Given the description of an element on the screen output the (x, y) to click on. 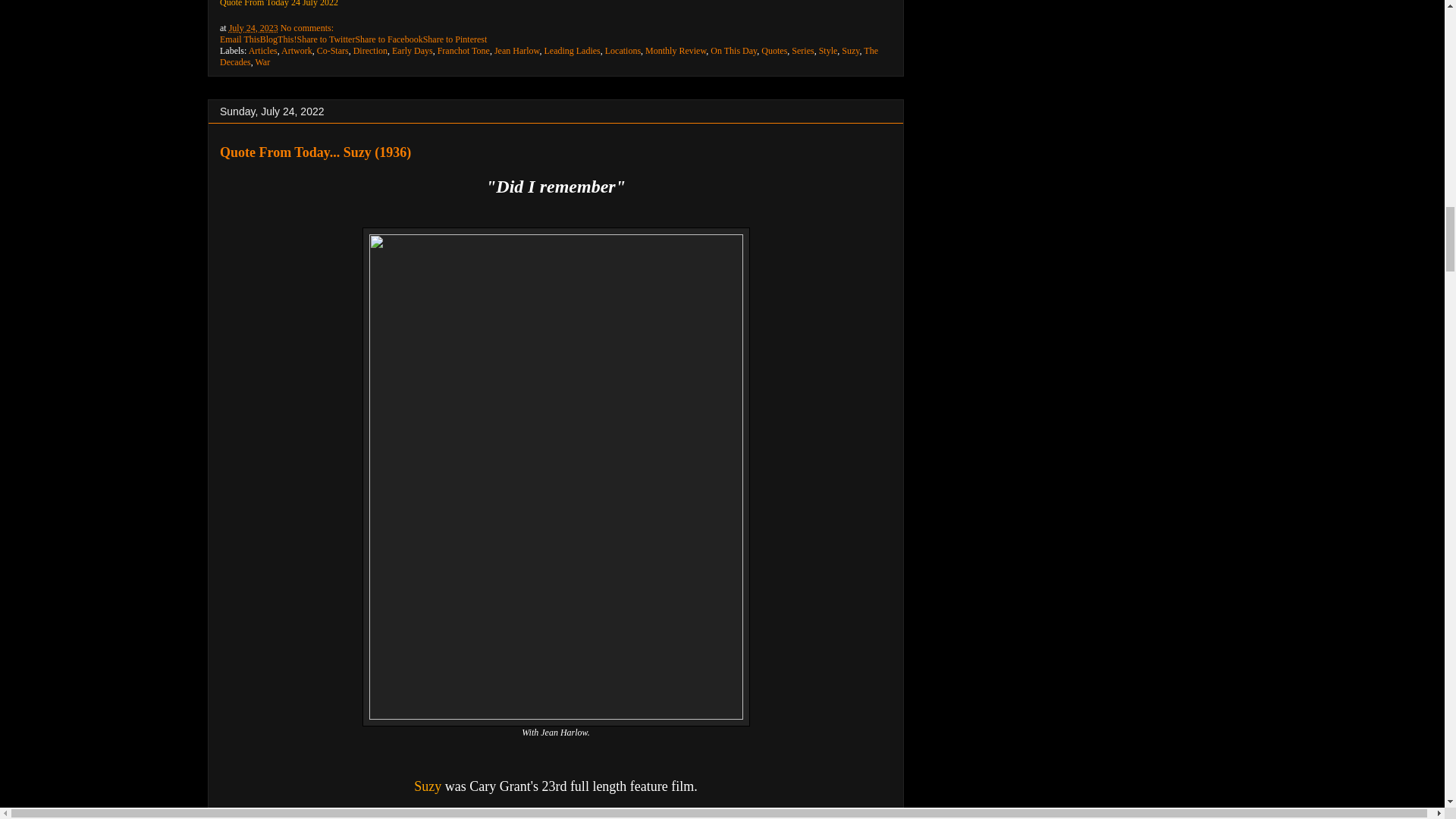
Share to Pinterest (455, 38)
Share to Facebook (388, 38)
War (261, 61)
BlogThis! (278, 38)
Suzy  (429, 785)
The Decades (548, 56)
Share to Facebook (388, 38)
BlogThis! (278, 38)
No comments: (307, 27)
July 24, 2023 (253, 27)
